Given the description of an element on the screen output the (x, y) to click on. 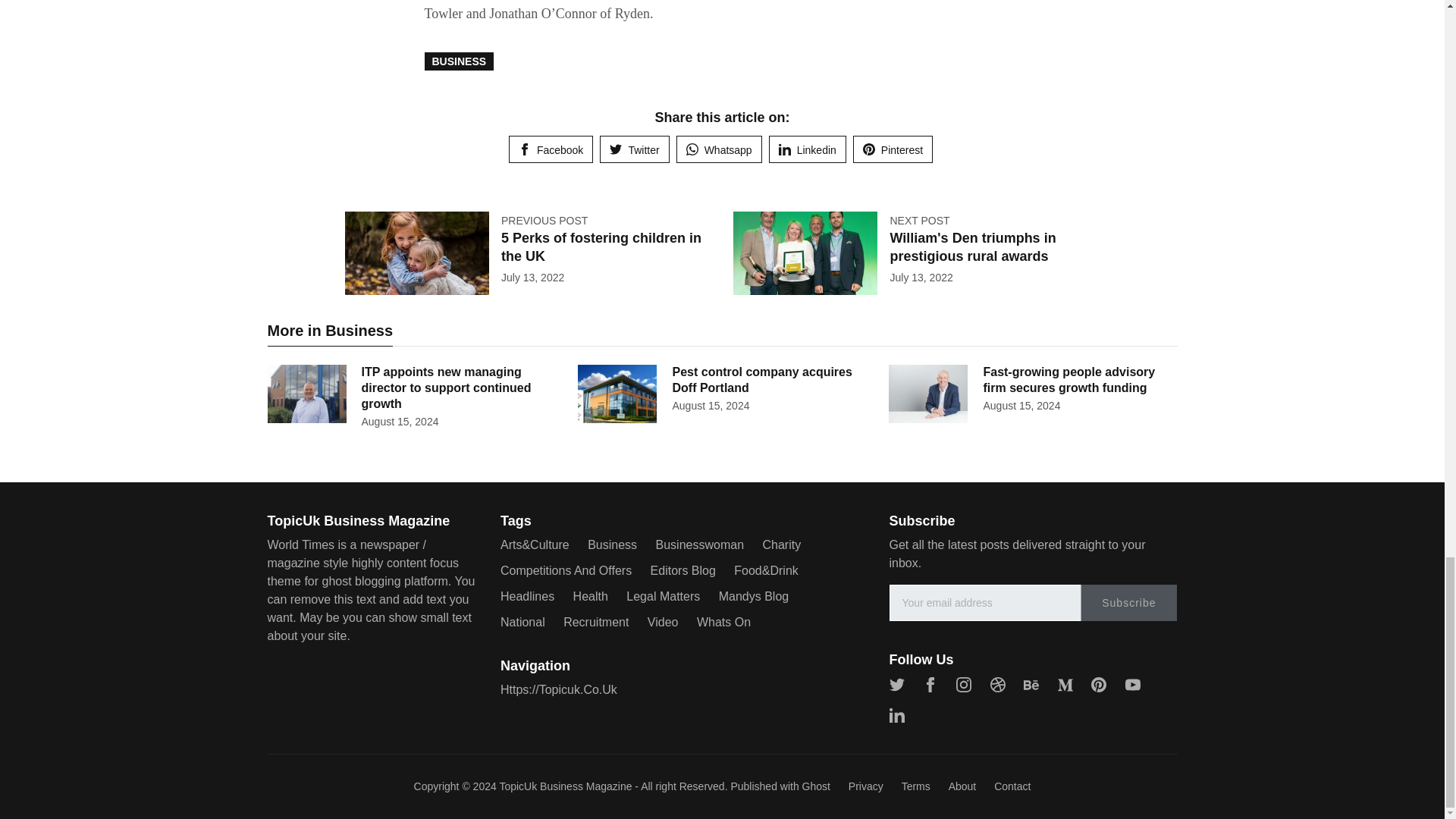
13 July, 2022 (920, 277)
NEXT POST (919, 220)
15 August, 2024 (399, 421)
Pest control company acquires Doff Portland (761, 379)
BUSINESS (460, 61)
Share on Twitter (633, 148)
Linkedin (806, 148)
Share on Pinterest (893, 148)
Facebook (550, 148)
